Given the description of an element on the screen output the (x, y) to click on. 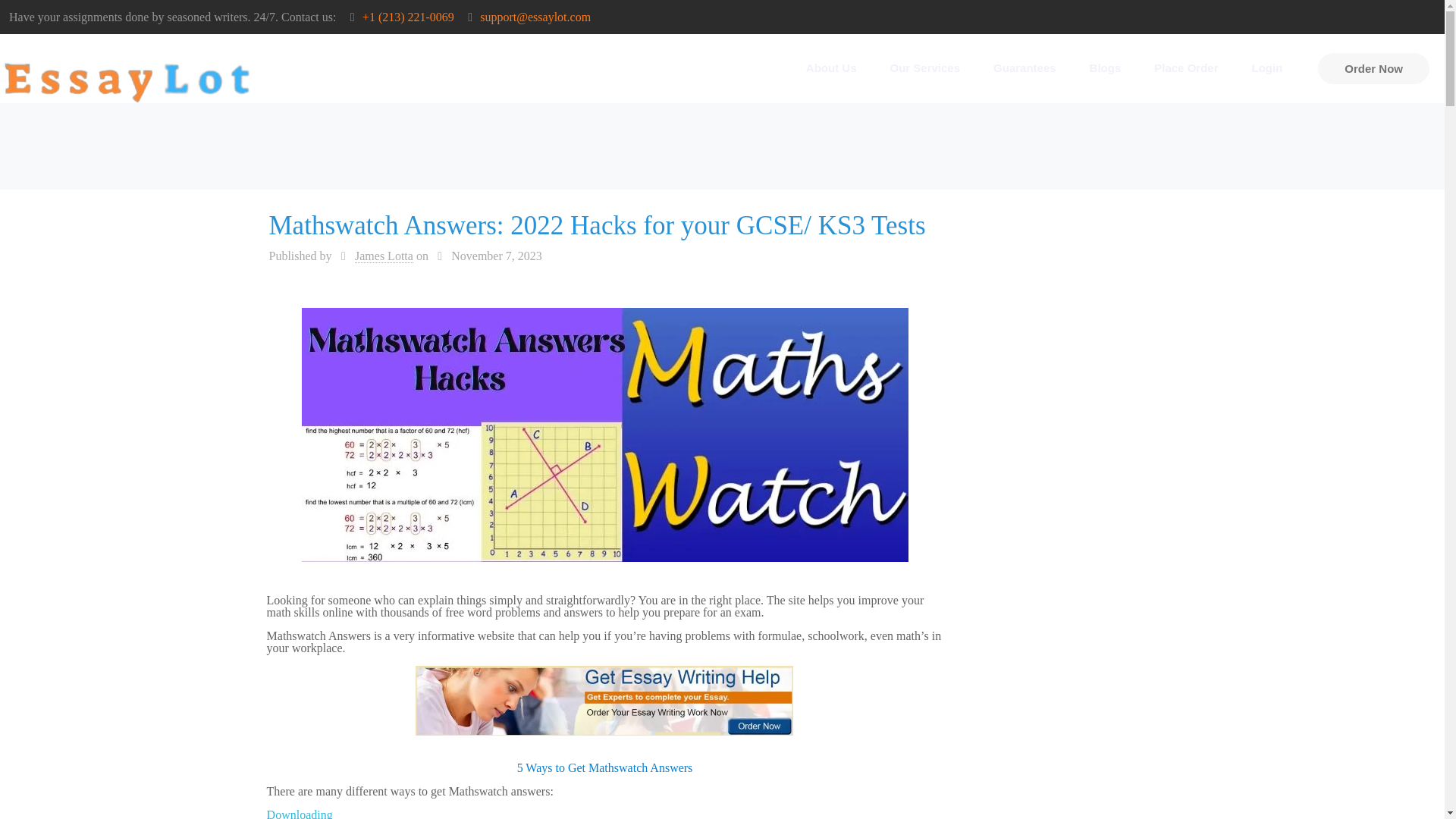
Blogs (1105, 67)
James Lotta (384, 255)
Guarantees (1024, 67)
Order Now (1373, 68)
Login (1266, 67)
Place Order (1185, 67)
About Us (831, 67)
Essay Lot (132, 76)
Our Services (925, 67)
